Given the description of an element on the screen output the (x, y) to click on. 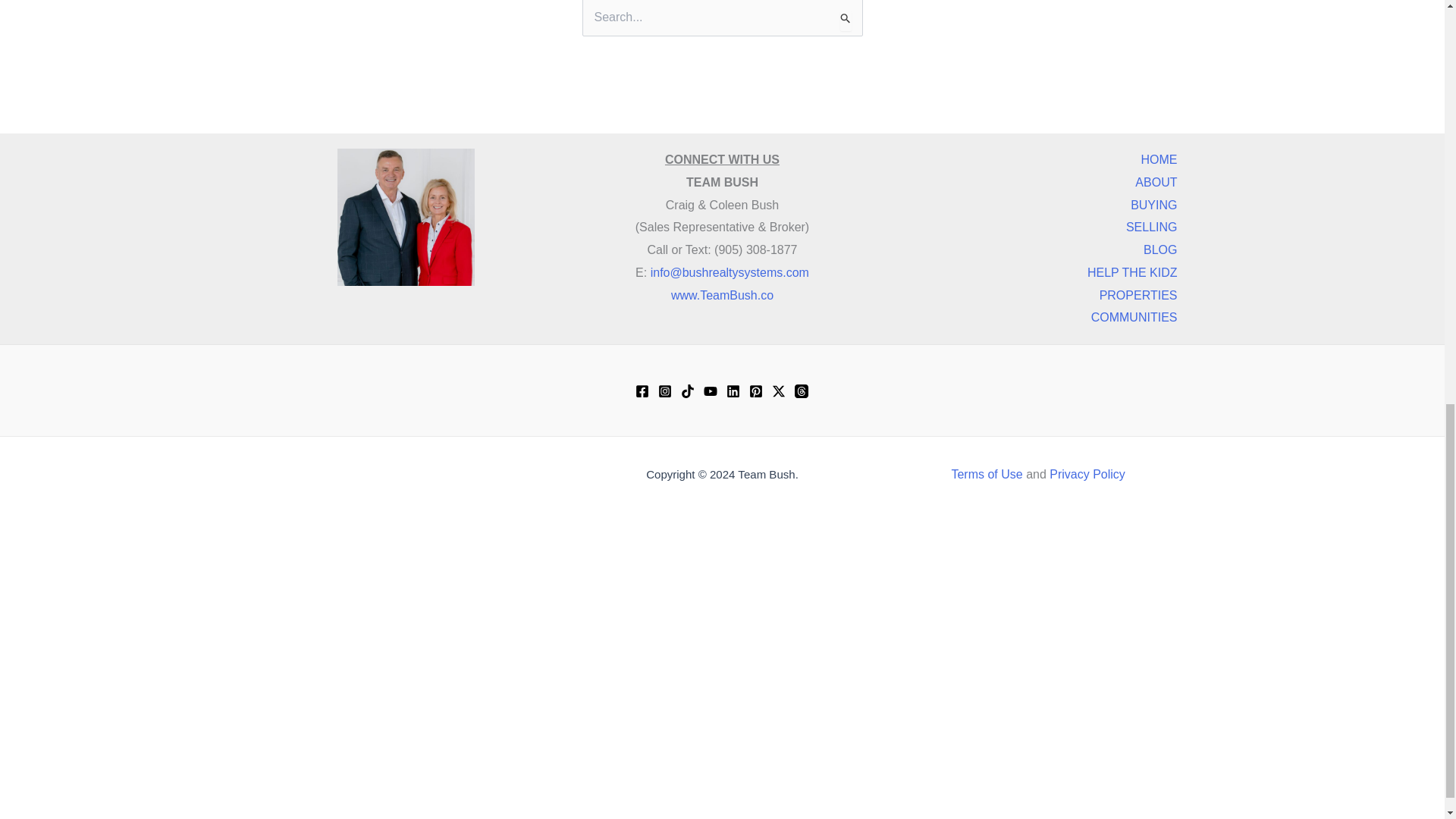
Search (844, 19)
Search (844, 19)
